Given the description of an element on the screen output the (x, y) to click on. 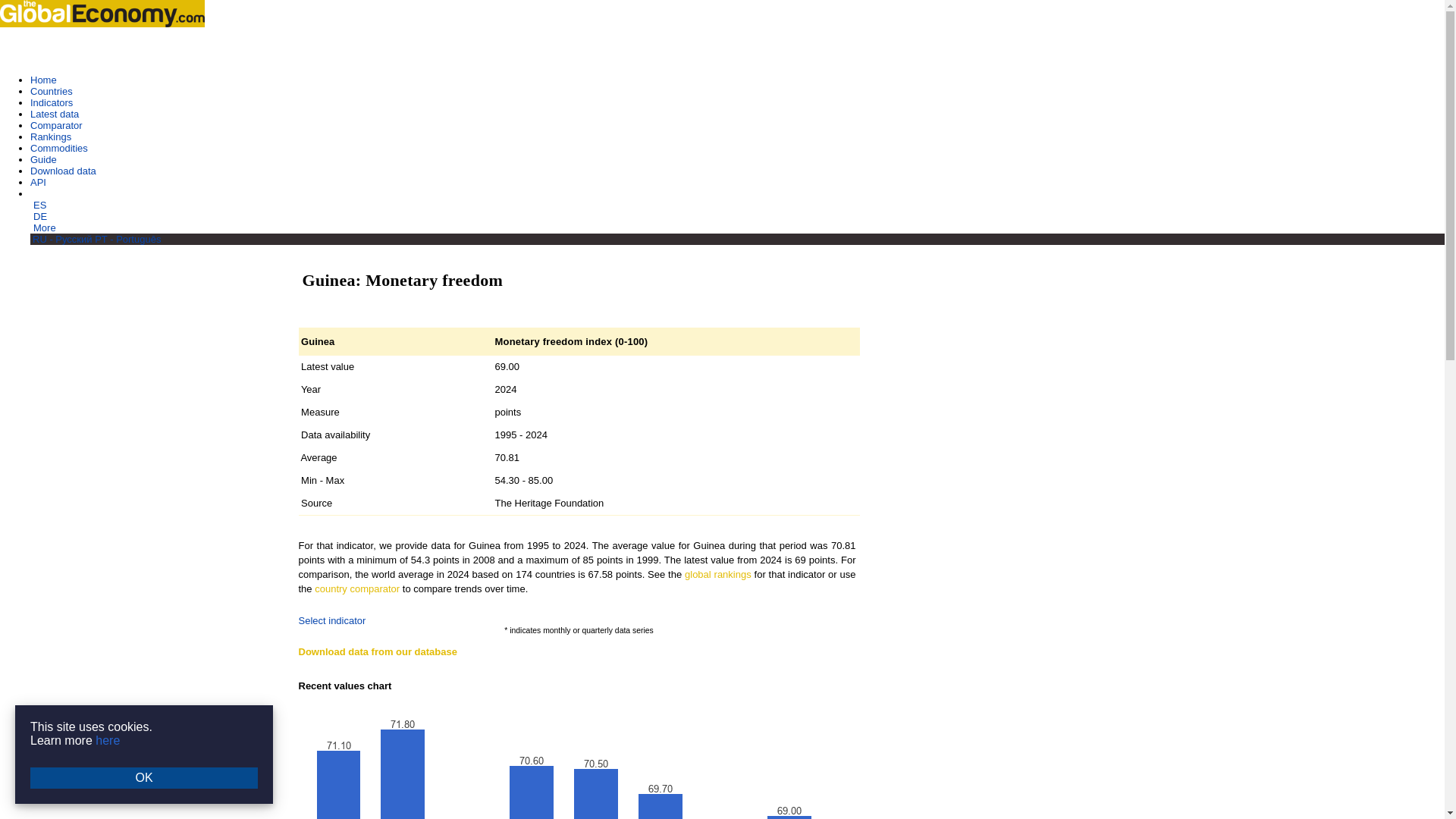
The Heritage Foundation (549, 502)
Download data (63, 170)
More (44, 227)
Home (43, 79)
Rankings (50, 136)
Guide (43, 159)
EN (38, 193)
country comparator (356, 588)
Indicators (51, 102)
Latest data (54, 113)
ES (39, 204)
Countries (51, 91)
Download data from our database (377, 651)
Select indicator (332, 620)
global rankings (717, 573)
